Given the description of an element on the screen output the (x, y) to click on. 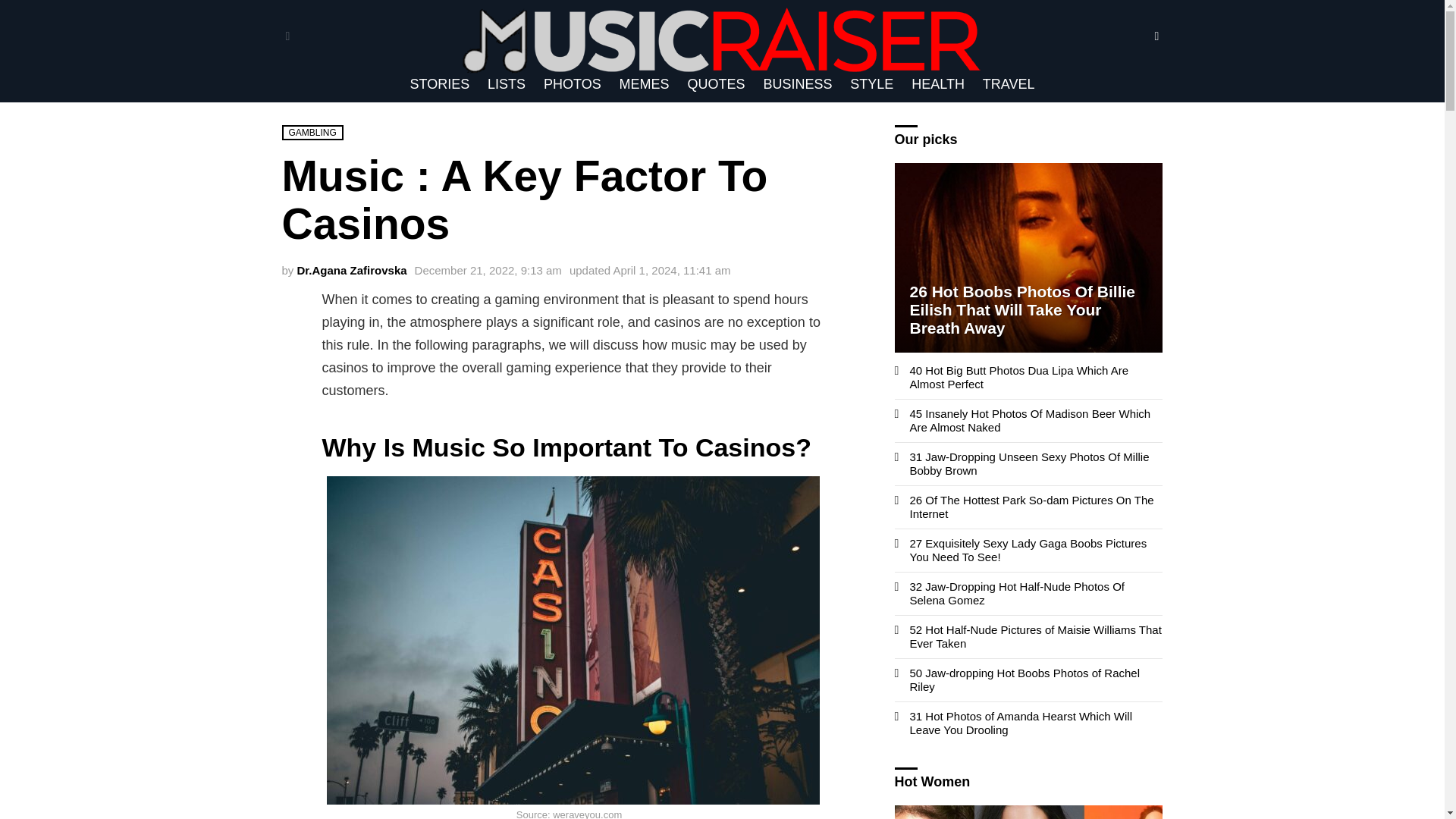
STORIES (439, 83)
PHOTOS (571, 83)
QUOTES (715, 83)
BUSINESS (797, 83)
Dr.Agana Zafirovska (352, 269)
STYLE (872, 83)
LISTS (506, 83)
GAMBLING (312, 132)
